Given the description of an element on the screen output the (x, y) to click on. 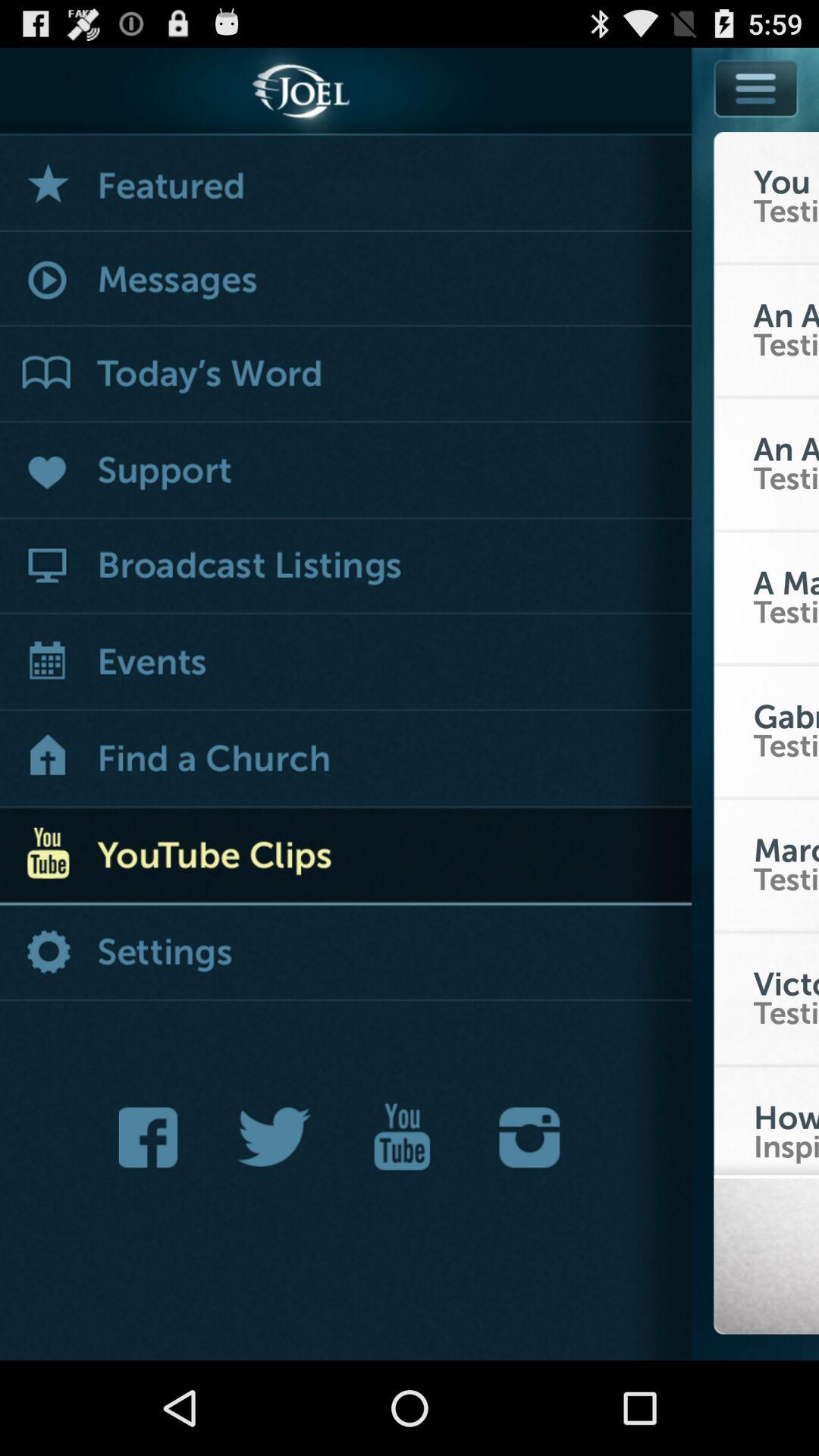
see featured menu (345, 183)
